Given the description of an element on the screen output the (x, y) to click on. 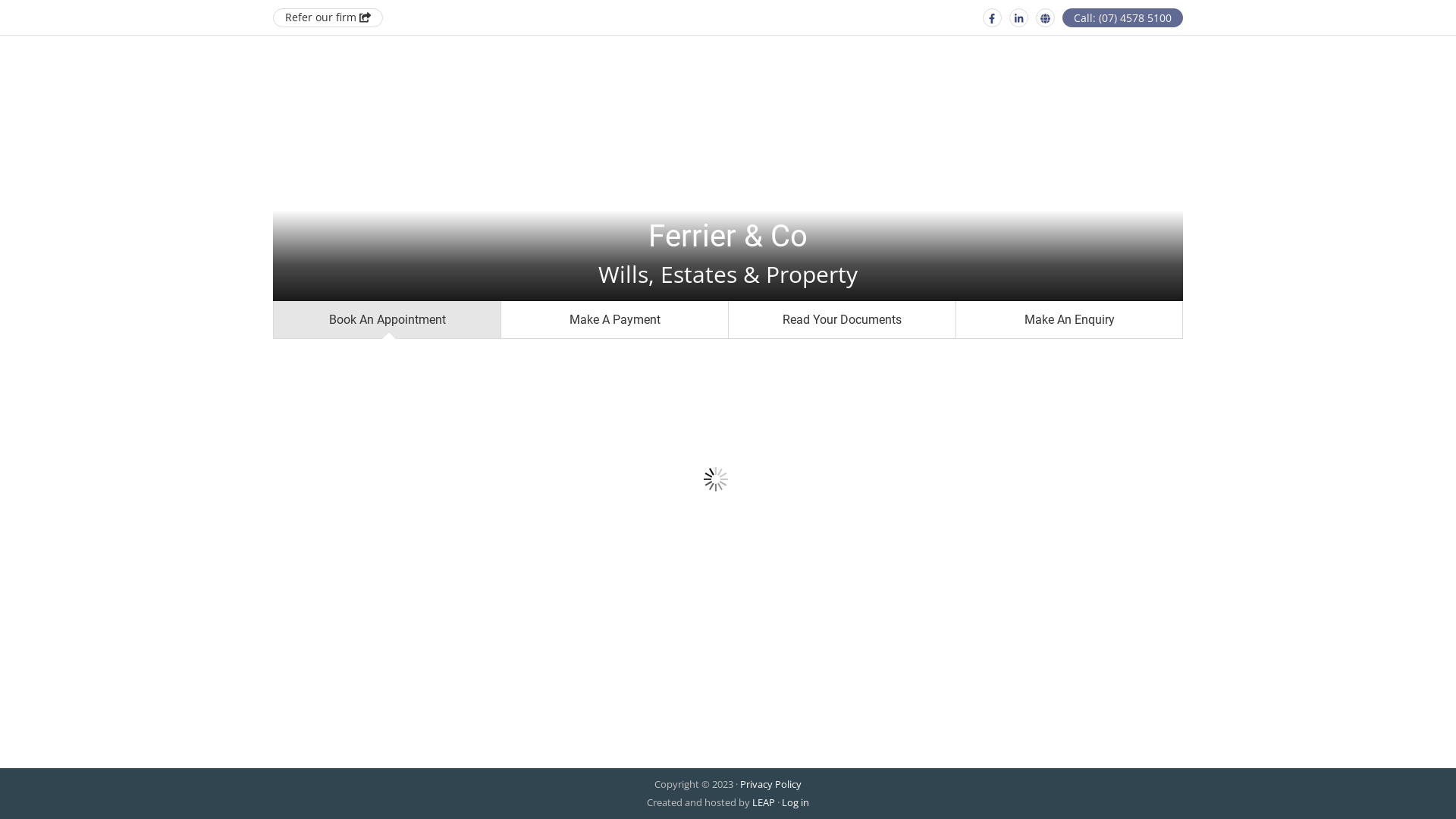
Make A Payment Element type: text (614, 319)
Call: (07) 4578 5100 Element type: text (1122, 17)
Back to website Element type: hover (1044, 17)
Log in Element type: text (795, 802)
Skip to main content Element type: text (0, 0)
Linkedin Element type: hover (1018, 17)
Privacy Policy Element type: text (770, 783)
Read Your Documents Element type: text (841, 319)
Refer our firm Element type: text (327, 18)
Facebook Element type: hover (991, 17)
LEAP Element type: text (763, 802)
Make An Enquiry Element type: text (1069, 319)
Book An Appointment Element type: text (386, 319)
